Given the description of an element on the screen output the (x, y) to click on. 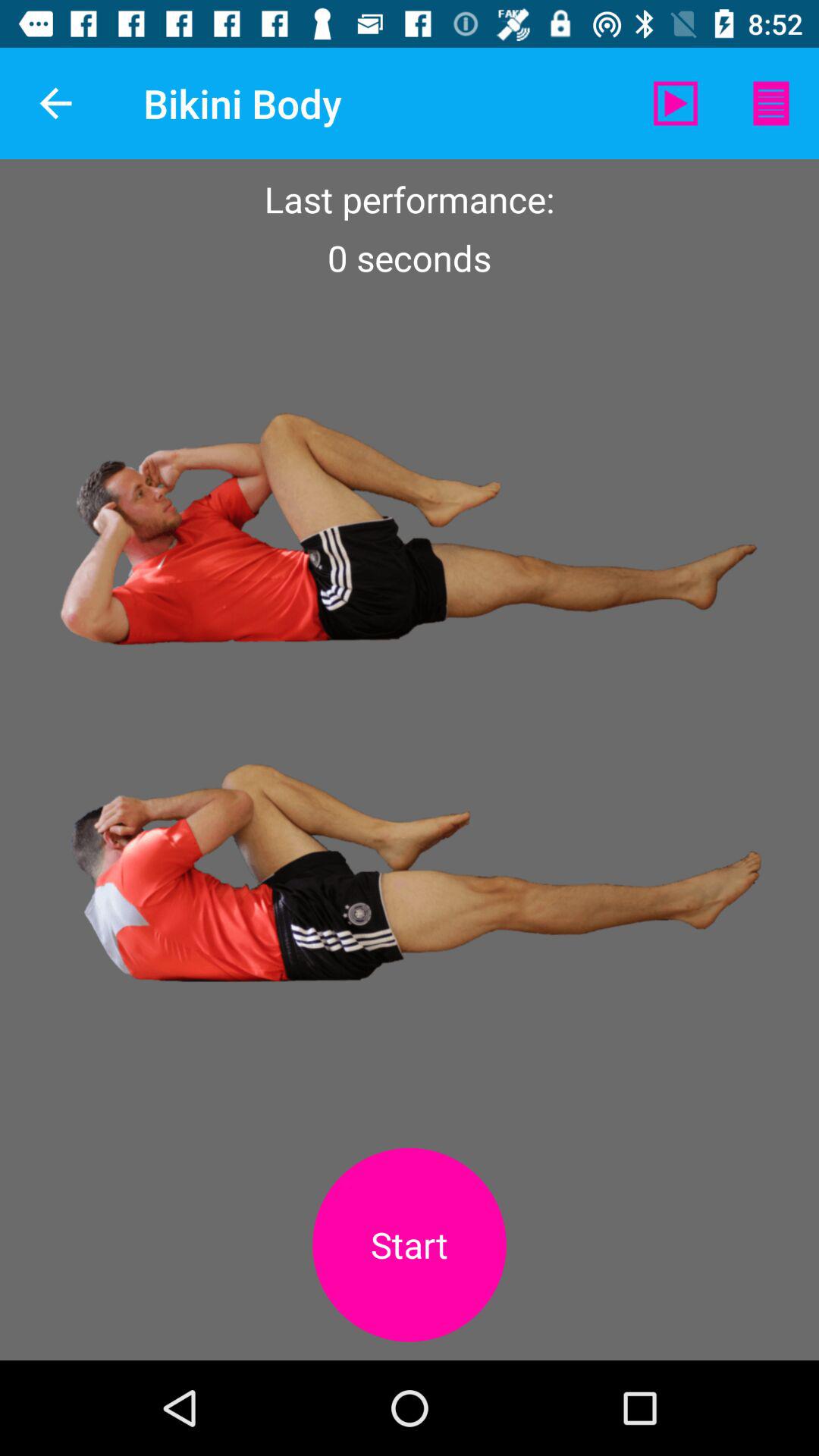
start (409, 1244)
